Given the description of an element on the screen output the (x, y) to click on. 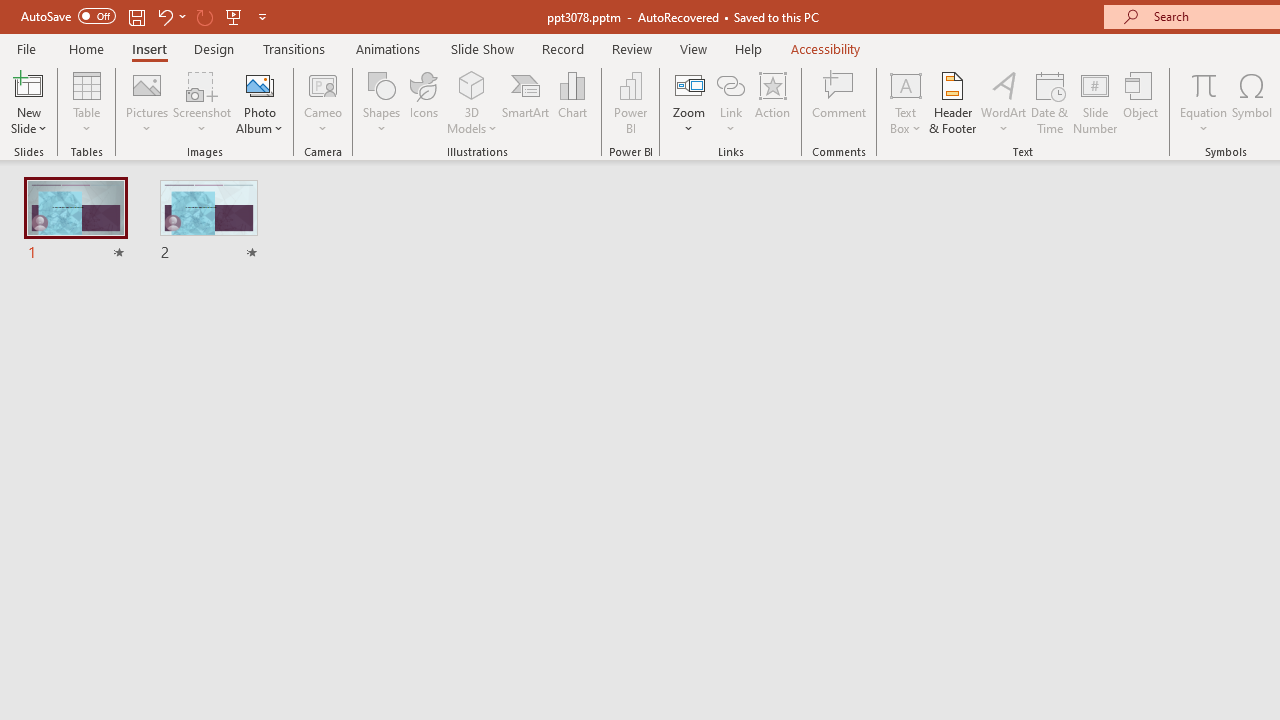
Gmail (637, 138)
sample_500k.py (619, 322)
wangyian_dsw - DSW (42, 321)
Explorer Section: wangyian (331, 368)
test.ipynb (864, 322)
Run and Debug (Ctrl+Shift+D) (135, 622)
